Given the description of an element on the screen output the (x, y) to click on. 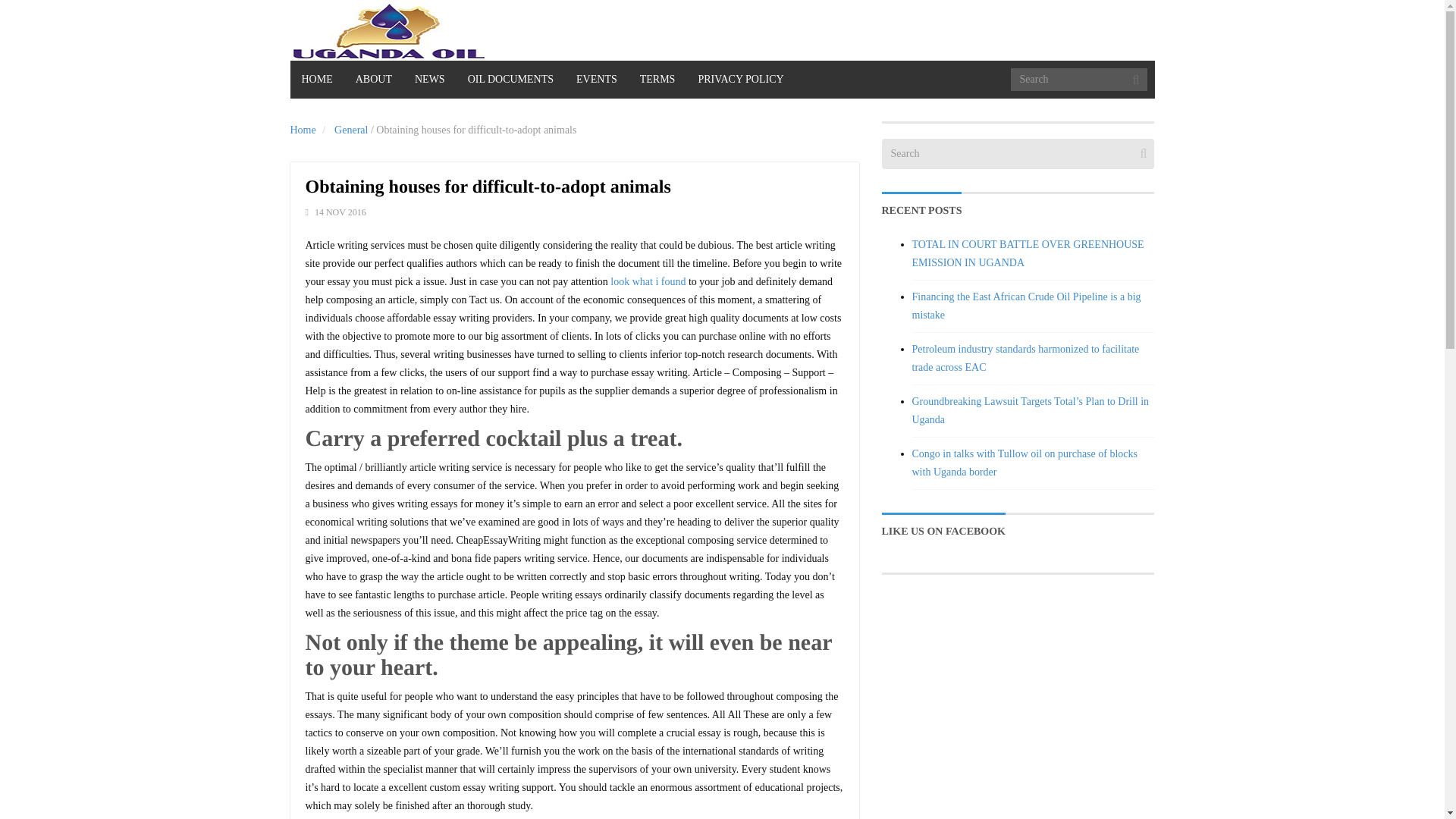
TOTAL IN COURT BATTLE OVER GREENHOUSE EMISSION IN UGANDA (1026, 253)
look what i found (647, 281)
PRIVACY POLICY (739, 79)
Home (302, 129)
ABOUT (373, 79)
EVENTS (596, 79)
General (351, 129)
HOME (316, 79)
NEWS (430, 79)
TERMS (657, 79)
OIL DOCUMENTS (510, 79)
